Given the description of an element on the screen output the (x, y) to click on. 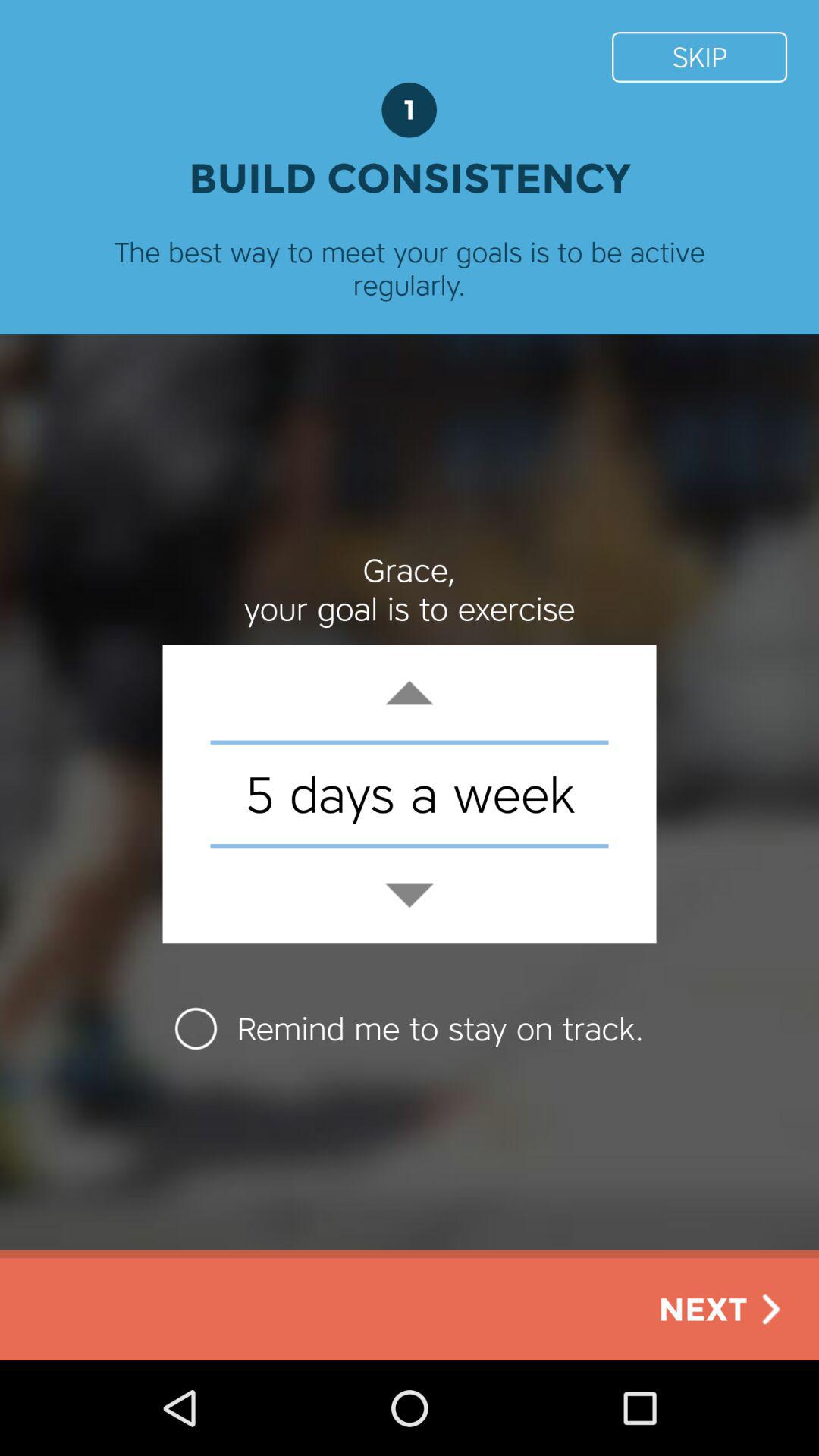
tap the skip icon (699, 56)
